Given the description of an element on the screen output the (x, y) to click on. 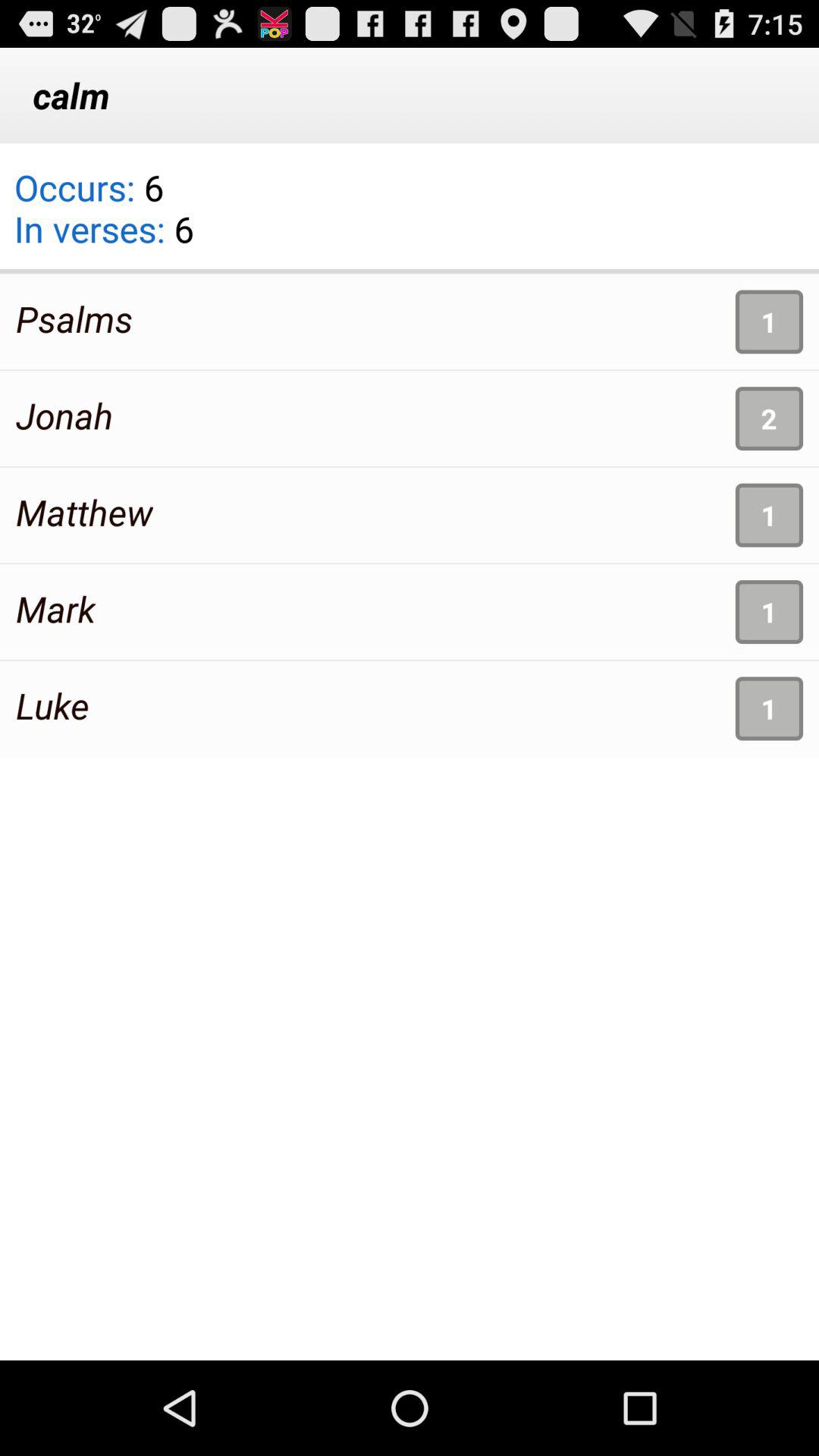
jump until 2 icon (769, 418)
